Given the description of an element on the screen output the (x, y) to click on. 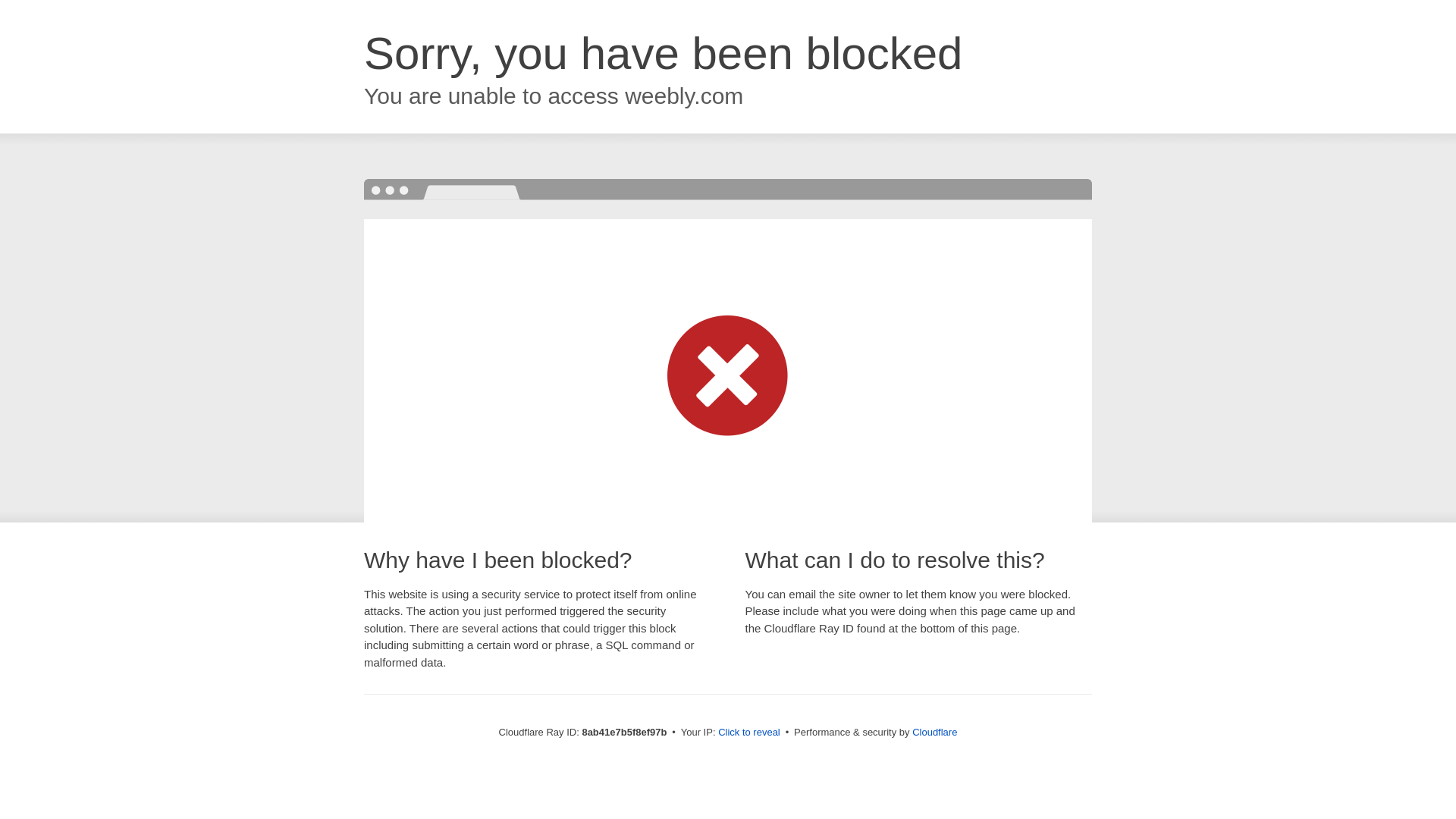
Cloudflare (934, 731)
Click to reveal (748, 732)
